Given the description of an element on the screen output the (x, y) to click on. 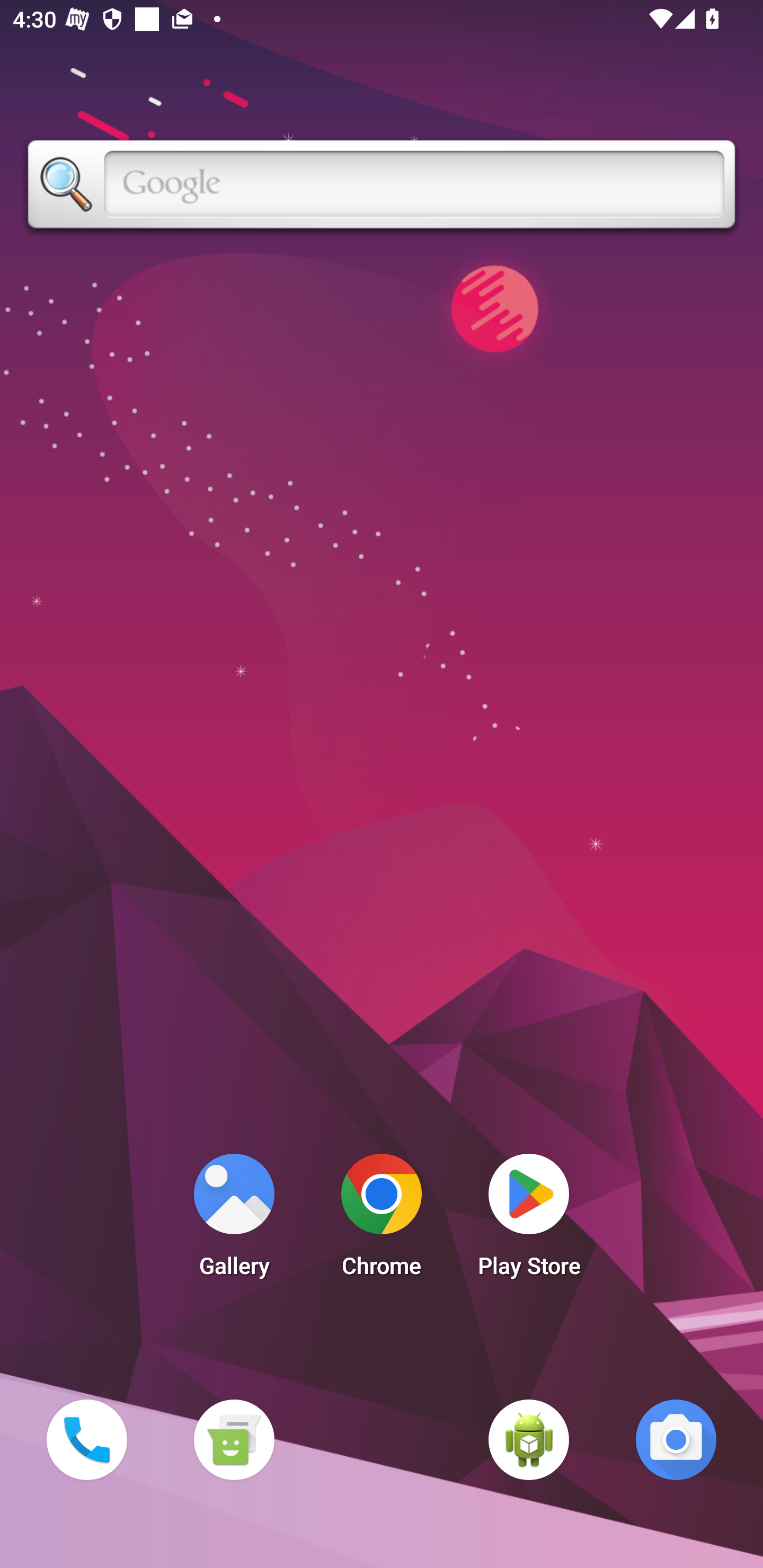
Gallery (233, 1220)
Chrome (381, 1220)
Play Store (528, 1220)
Phone (86, 1439)
Messaging (233, 1439)
WebView Browser Tester (528, 1439)
Camera (676, 1439)
